Given the description of an element on the screen output the (x, y) to click on. 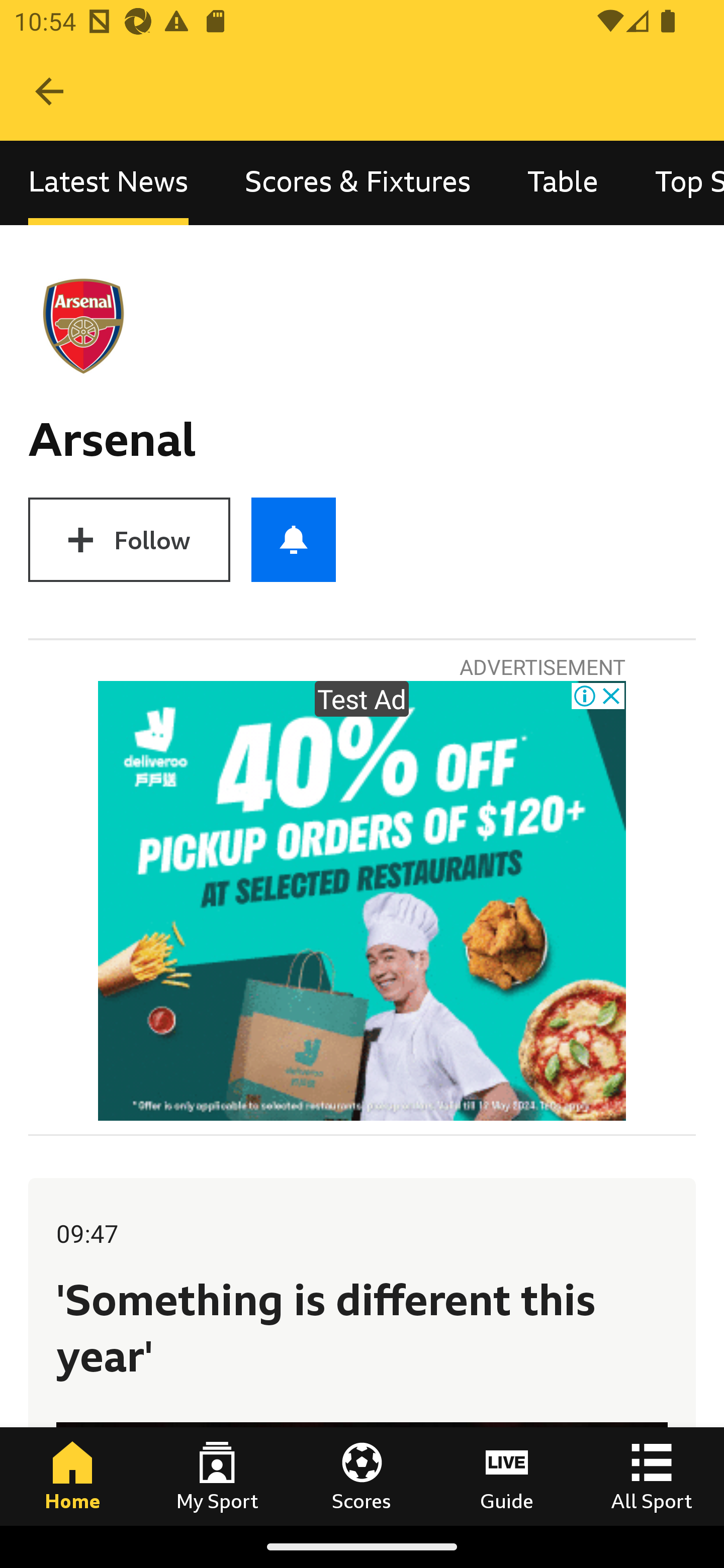
Navigate up (49, 91)
Latest News, selected Latest News (108, 183)
Scores & Fixtures (357, 183)
Table (562, 183)
Follow Arsenal Follow (129, 539)
Push notifications for Arsenal (293, 539)
Advertisement (361, 900)
My Sport (216, 1475)
Scores (361, 1475)
Guide (506, 1475)
All Sport (651, 1475)
